Given the description of an element on the screen output the (x, y) to click on. 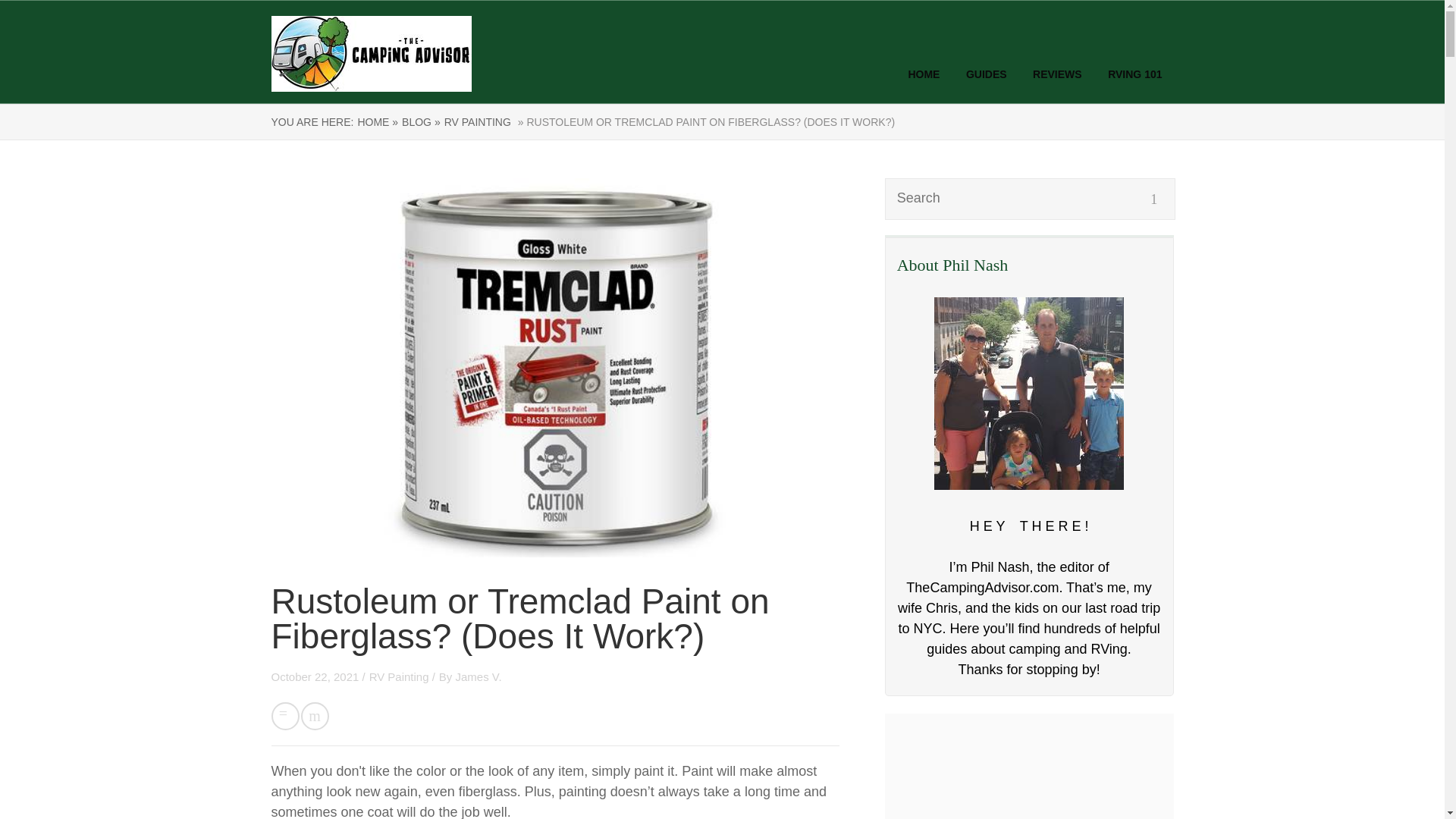
RV PAINTING (477, 121)
REVIEWS (1056, 73)
GUIDES (986, 73)
HOME (923, 73)
RVING 101 (1134, 73)
